Given the description of an element on the screen output the (x, y) to click on. 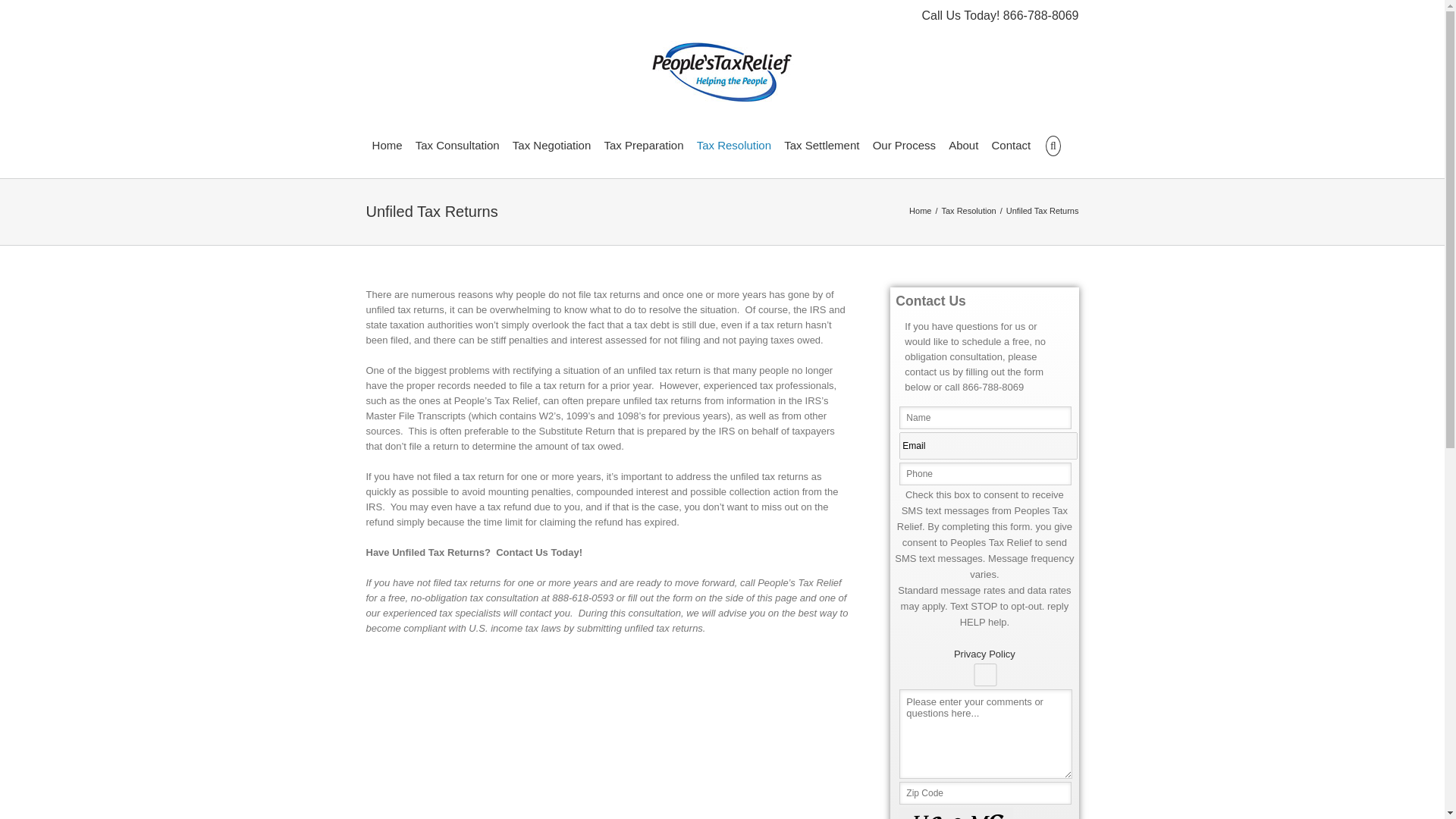
Tax Settlement (821, 143)
Tax Resolution (734, 143)
Our Process (904, 143)
Phone (984, 473)
Tax Preparation (643, 143)
Zip Code (984, 793)
Name (984, 417)
Checkbox (984, 674)
Tax Consultation (456, 143)
Tax Negotiation (551, 143)
